Given the description of an element on the screen output the (x, y) to click on. 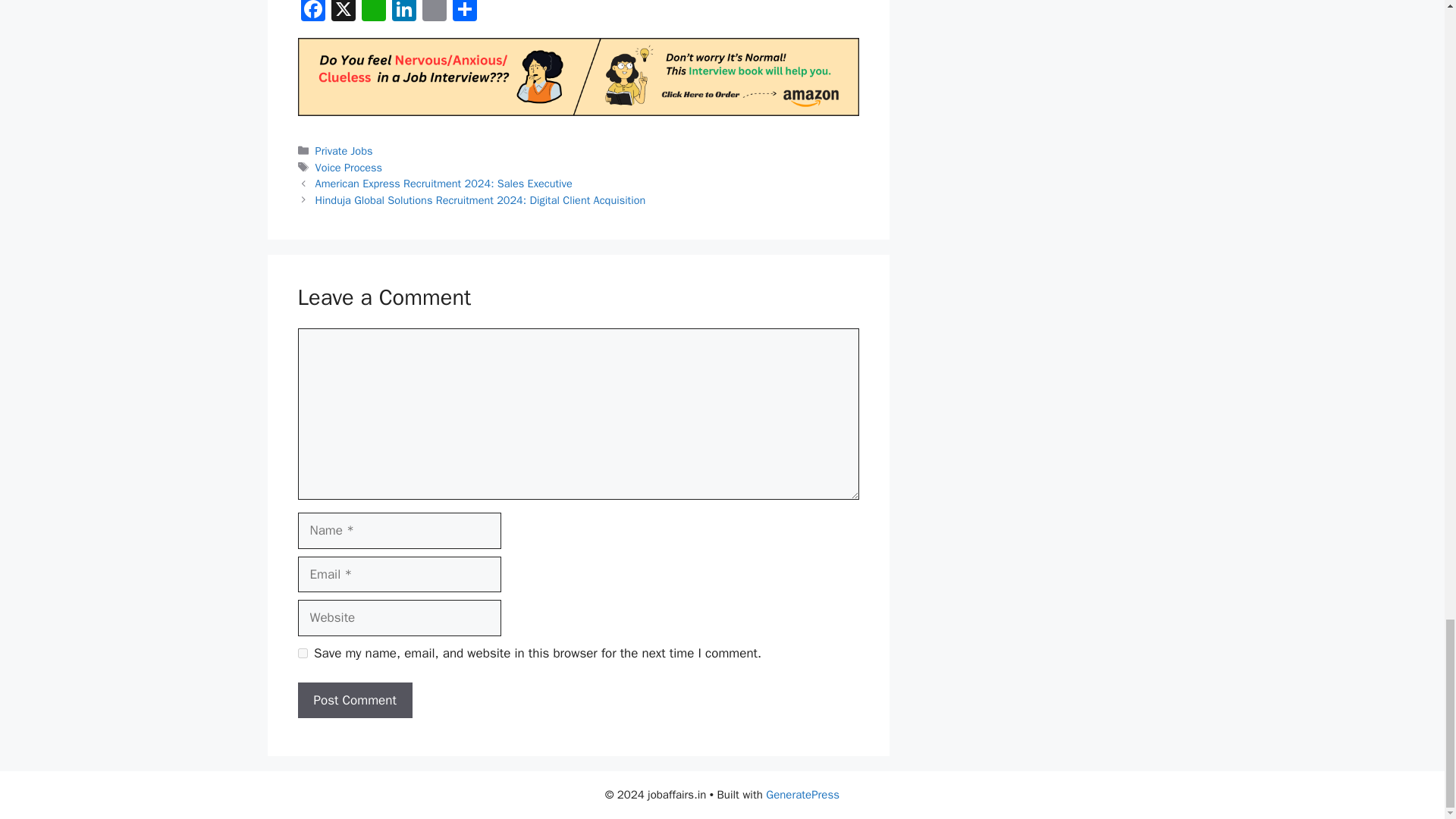
Copy Link (433, 12)
LinkedIn (403, 12)
Copy Link (433, 12)
X (342, 12)
WhatsApp (373, 12)
Facebook (312, 12)
Post Comment (354, 700)
yes (302, 653)
LinkedIn (403, 12)
WhatsApp (373, 12)
